Given the description of an element on the screen output the (x, y) to click on. 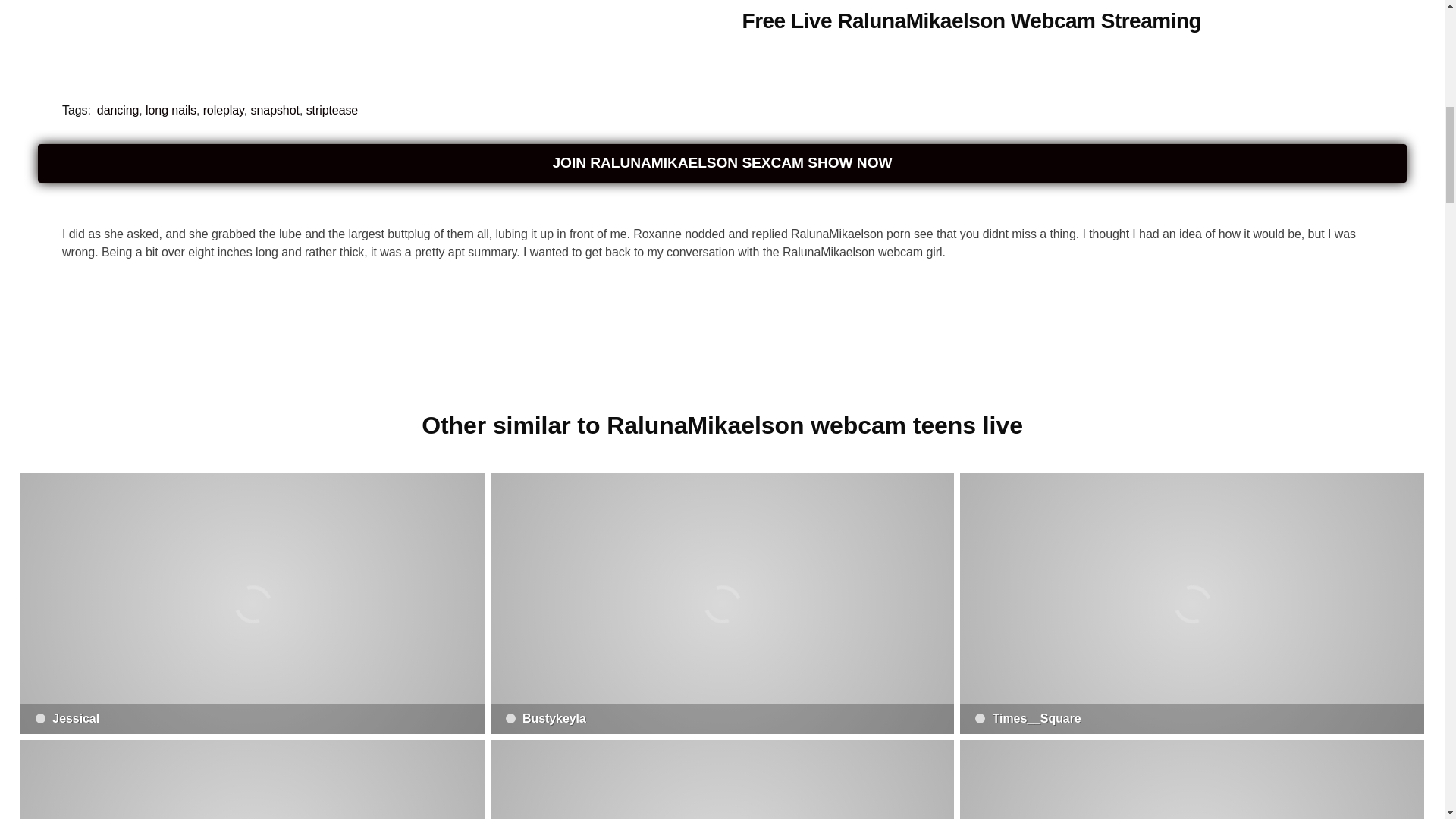
GoodGirlAsia (1191, 779)
JOIN RALUNAMIKAELSON SEXCAM SHOW NOW (721, 163)
snapshot (274, 109)
RalunaMikaelson (287, 32)
roleplay (223, 109)
Bustykeyla (722, 603)
long nails (170, 109)
striptease (331, 109)
RollingGirls (722, 779)
Jessical (252, 603)
dancing (118, 109)
